Given the description of an element on the screen output the (x, y) to click on. 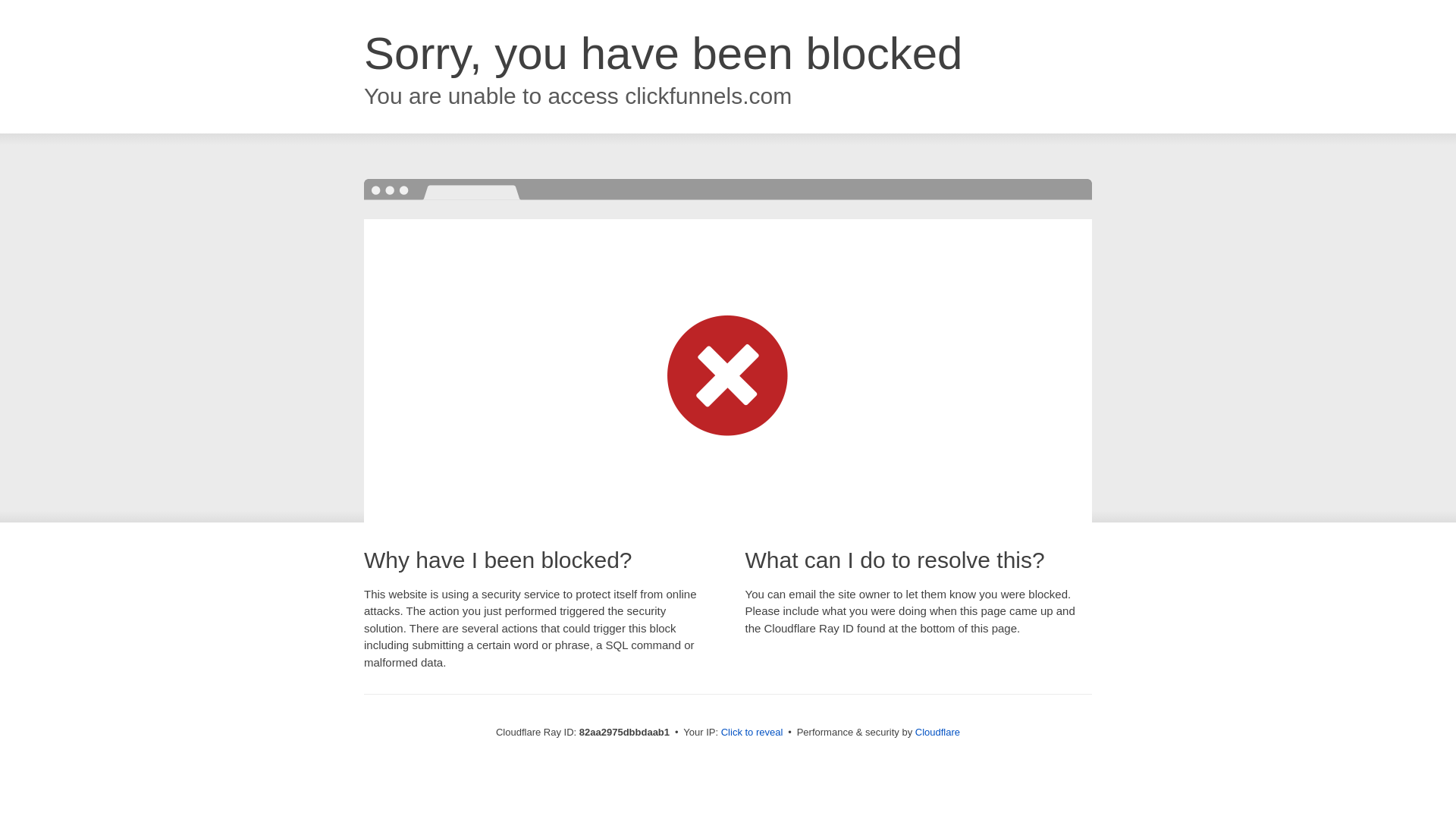
Click to reveal Element type: text (752, 732)
Cloudflare Element type: text (937, 731)
